Given the description of an element on the screen output the (x, y) to click on. 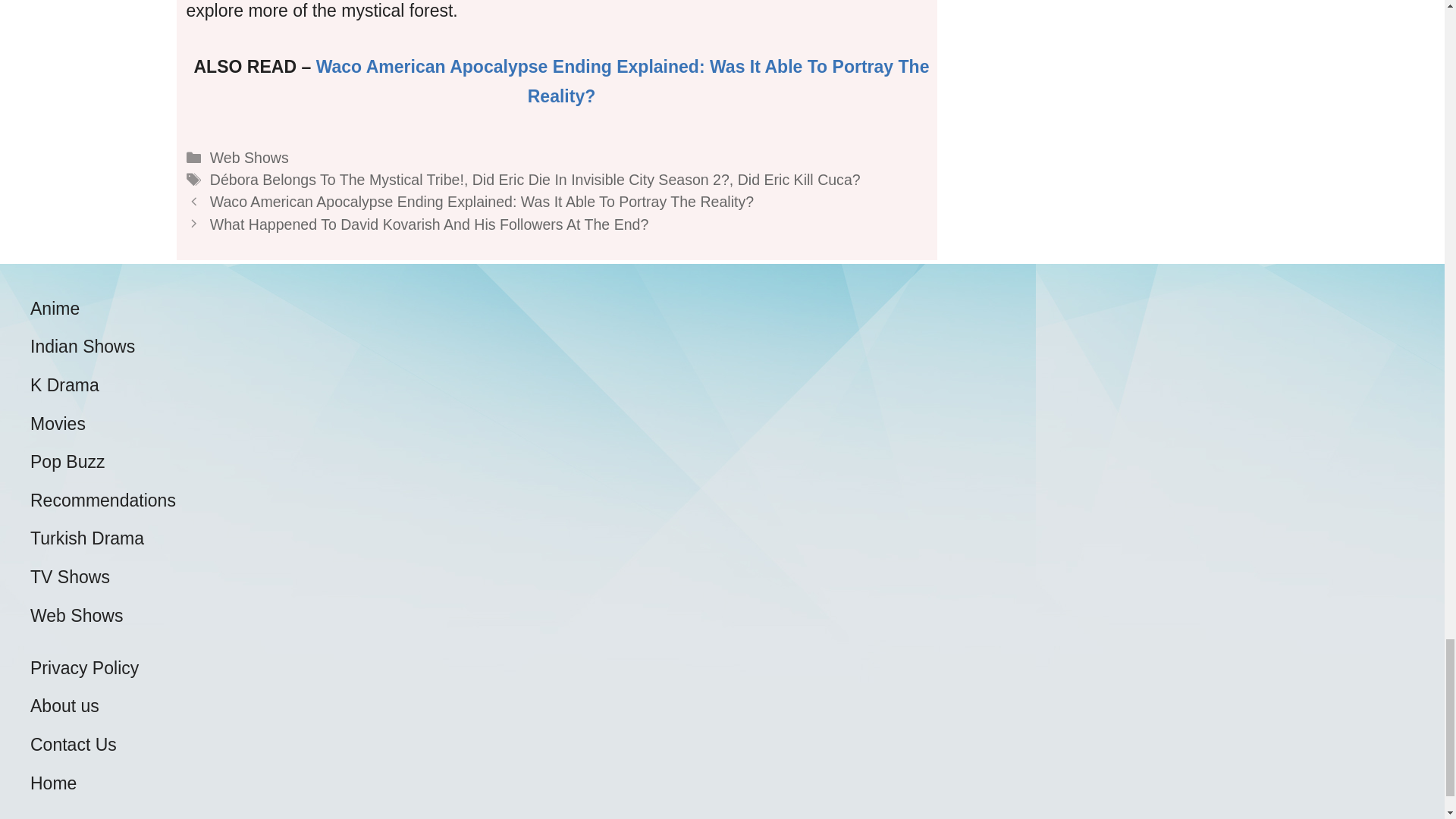
Web Shows (248, 157)
Did Eric Kill Cuca? (799, 179)
Did Eric Die In Invisible City Season 2? (600, 179)
